Given the description of an element on the screen output the (x, y) to click on. 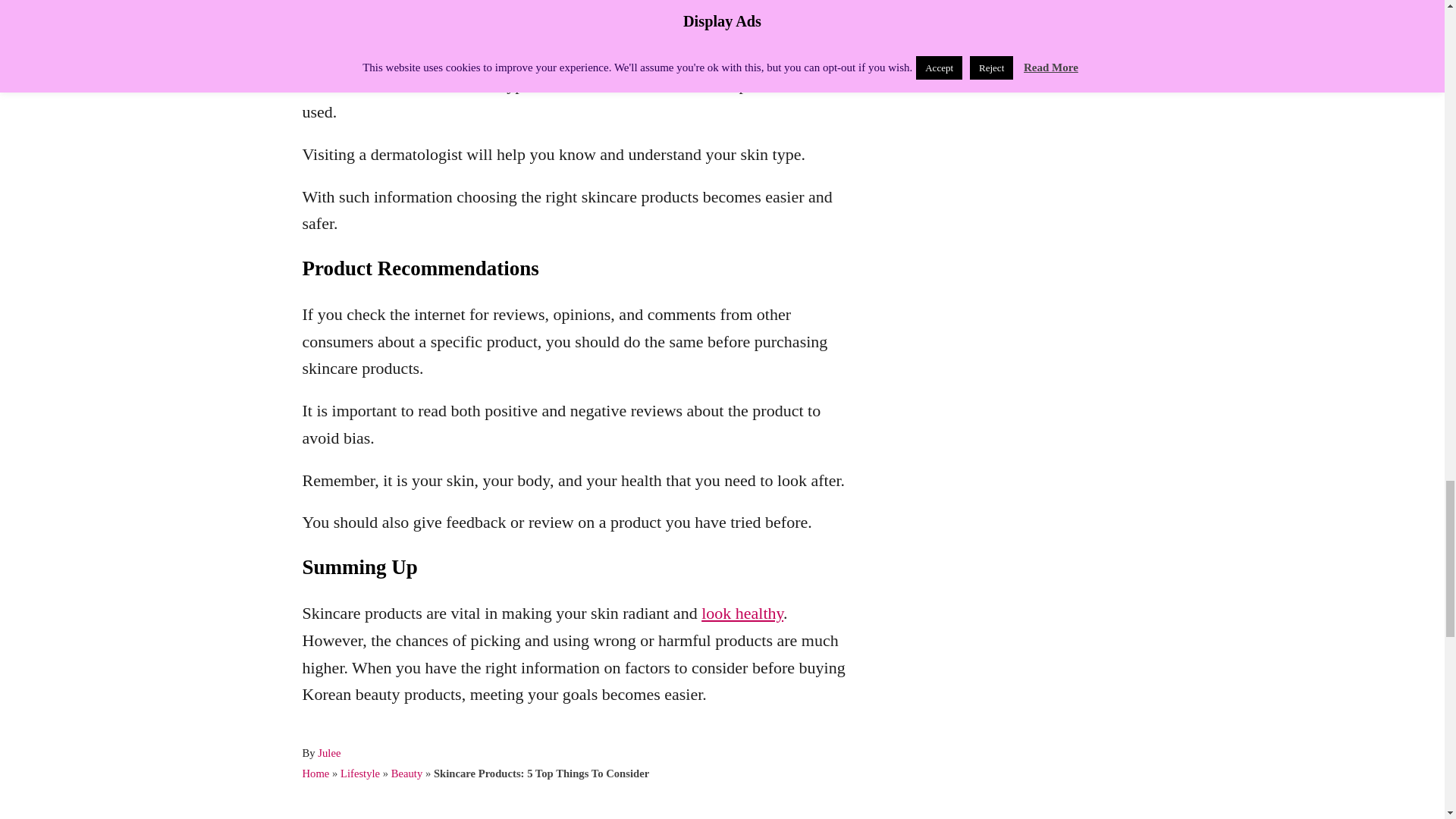
Julee (328, 752)
Beauty (407, 773)
Home (315, 773)
mixed (485, 42)
Lifestyle (360, 773)
look healthy (742, 612)
